Given the description of an element on the screen output the (x, y) to click on. 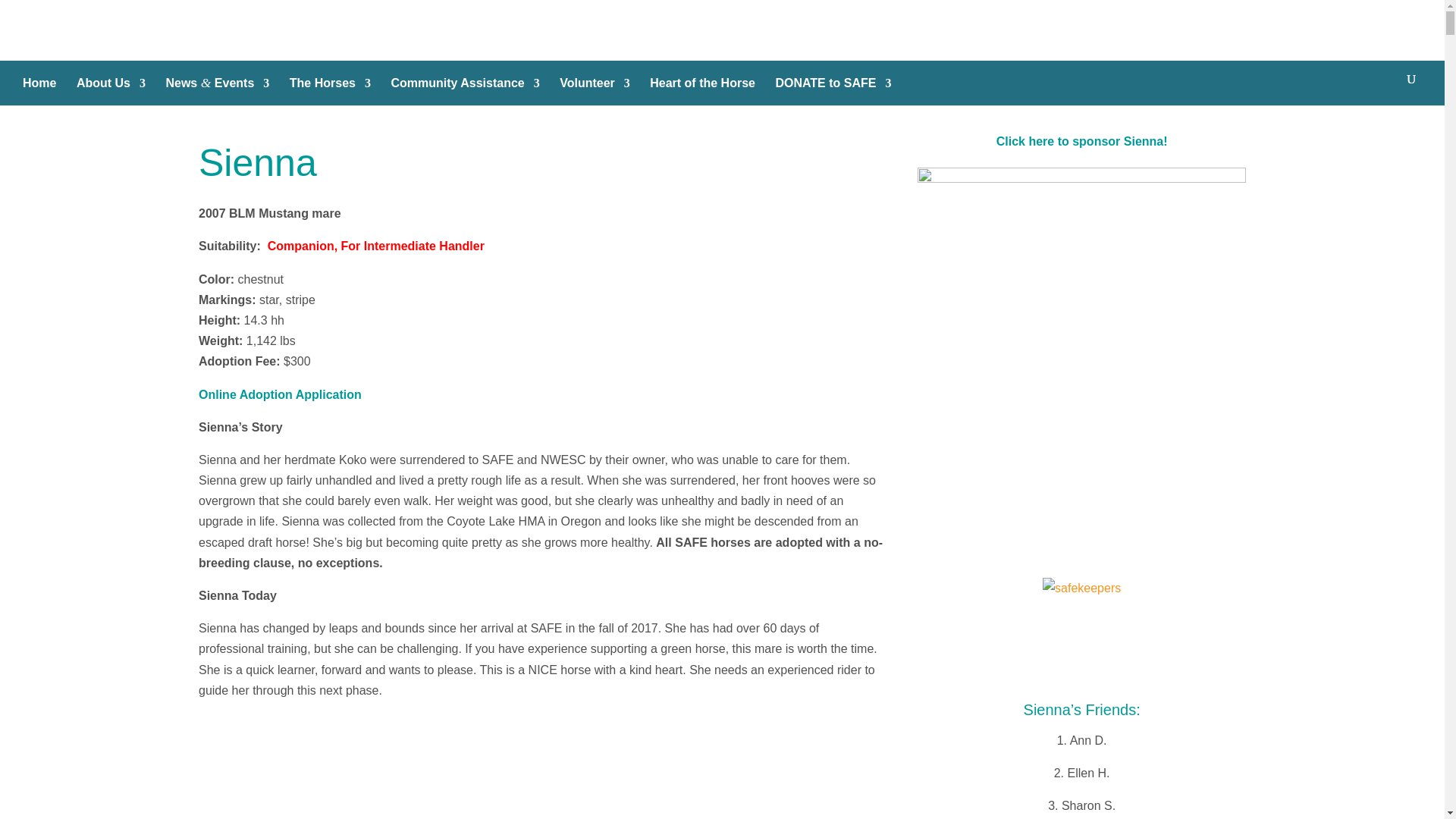
DONATE to SAFE (832, 88)
Heart of the Horse (702, 88)
Adoption Application (279, 394)
The Horses (330, 88)
Home (39, 88)
Community Assistance (464, 88)
About Us (111, 88)
Volunteer (594, 88)
